Given the description of an element on the screen output the (x, y) to click on. 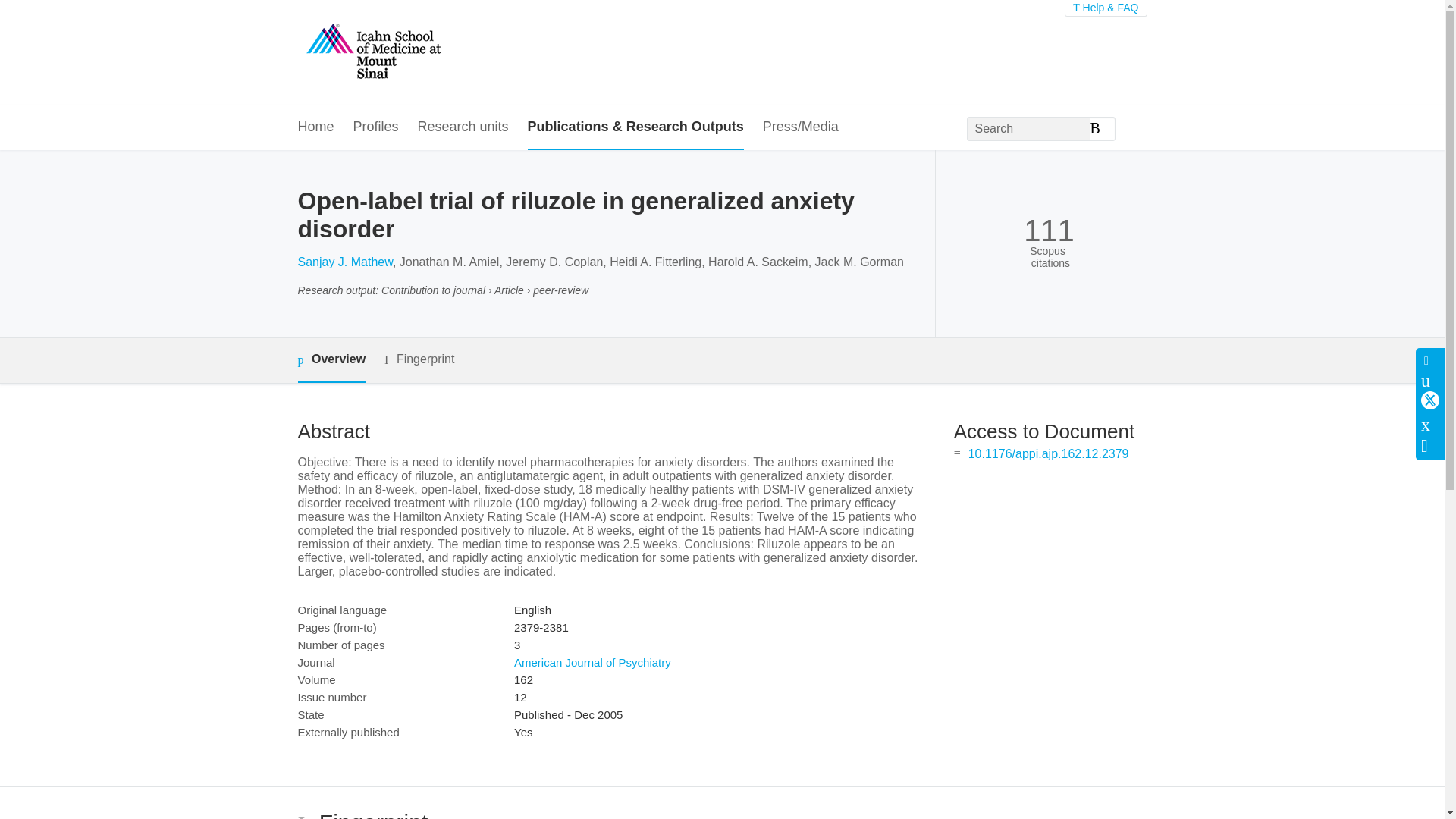
Research units (462, 127)
American Journal of Psychiatry (592, 662)
Fingerprint (419, 359)
Overview (331, 360)
Icahn School of Medicine at Mount Sinai Home (372, 52)
Sanjay J. Mathew (344, 261)
Profiles (375, 127)
